Given the description of an element on the screen output the (x, y) to click on. 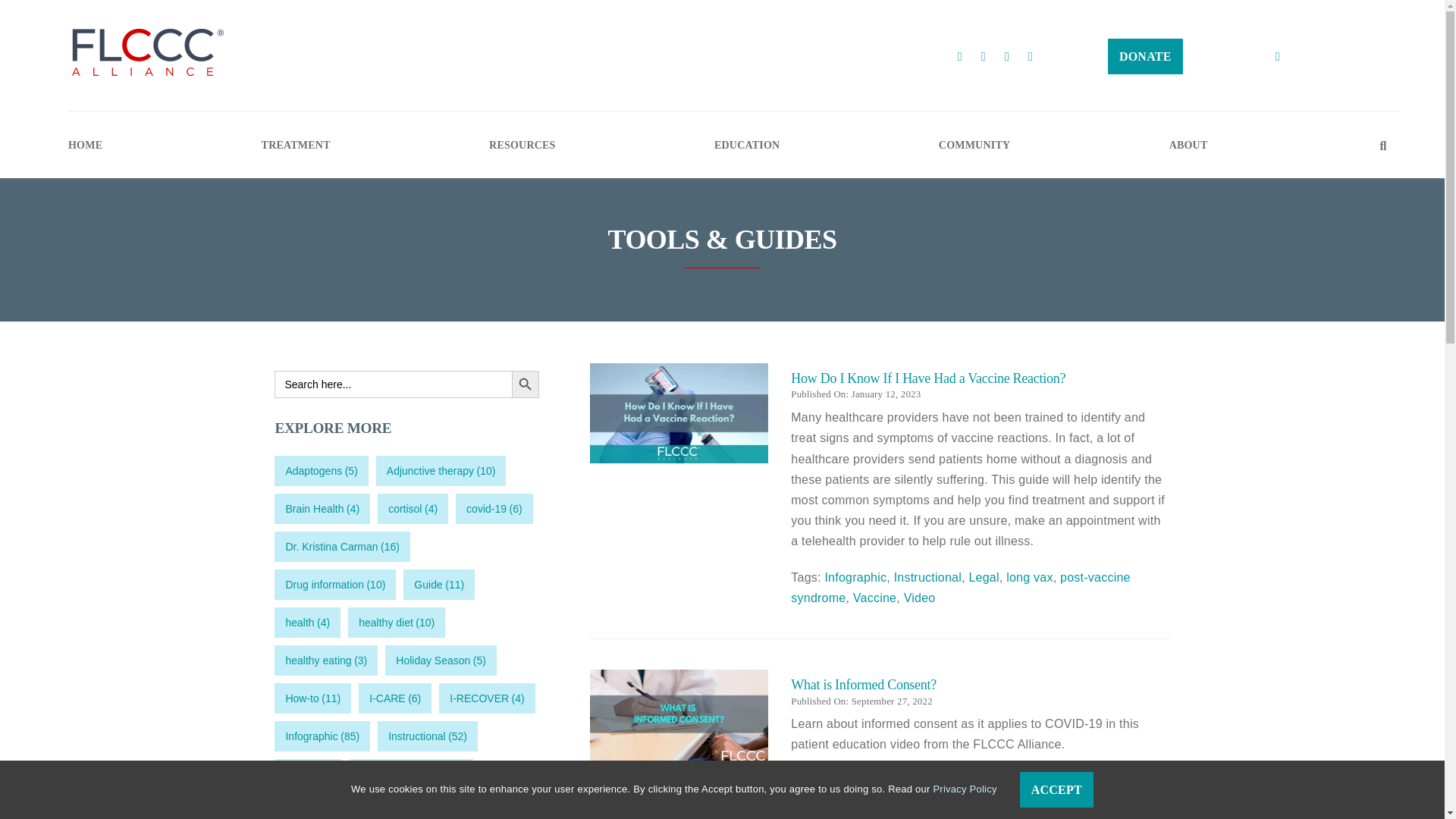
Infographic (855, 576)
Legal (983, 780)
Video (1113, 780)
Infographic (855, 780)
DONATE (1145, 55)
post-vaccine syndrome (959, 587)
Medical Ethical (1048, 780)
RESOURCES (521, 143)
Instructional (926, 780)
Vaccine (874, 597)
TREATMENT (296, 143)
HOME (84, 143)
Video (920, 597)
Legal (983, 576)
Instructional (926, 576)
